Given the description of an element on the screen output the (x, y) to click on. 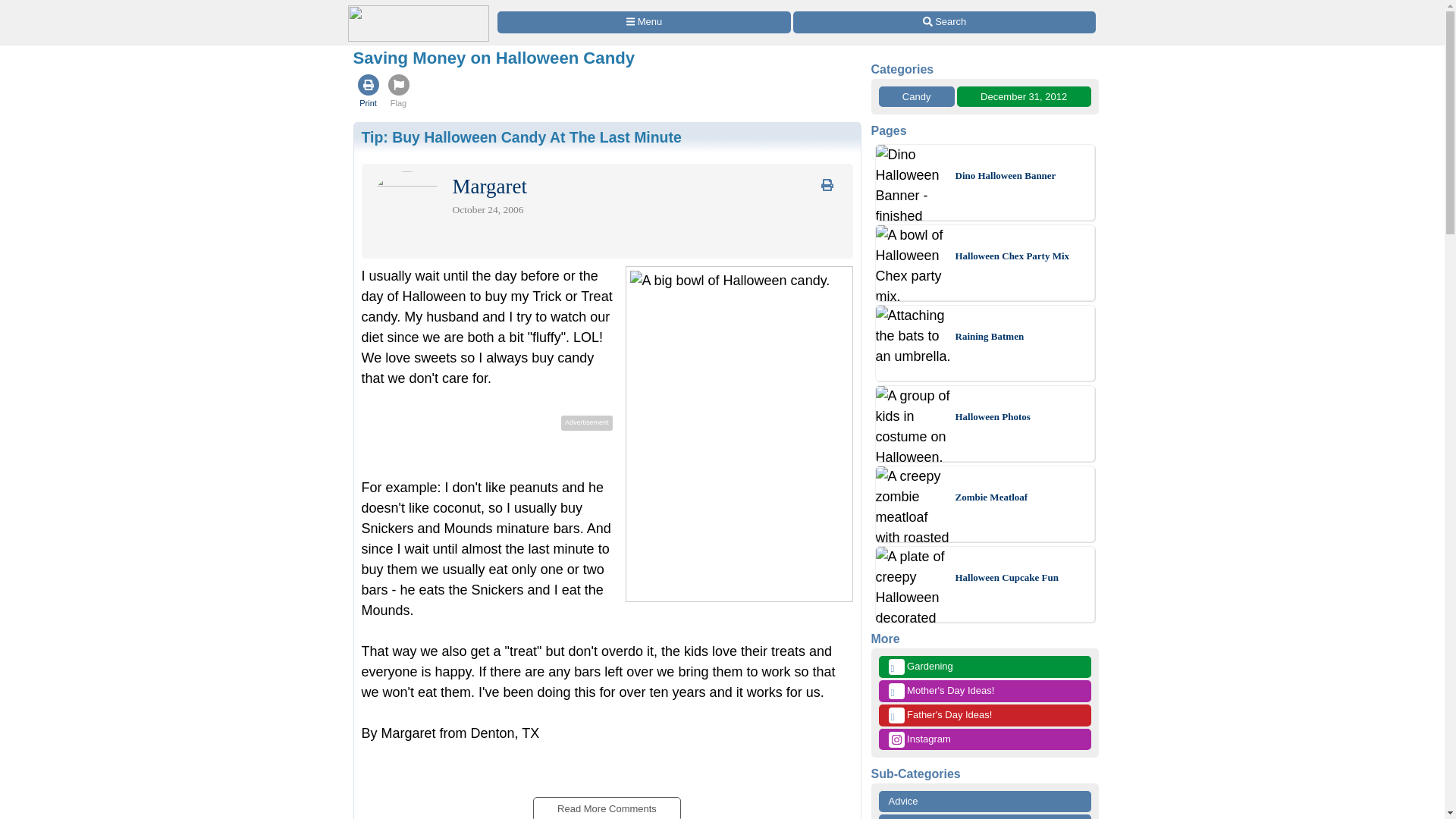
Read More Comments (605, 803)
Margaret (488, 189)
Tip: Buy Halloween Candy At The Last Minute (521, 136)
